Given the description of an element on the screen output the (x, y) to click on. 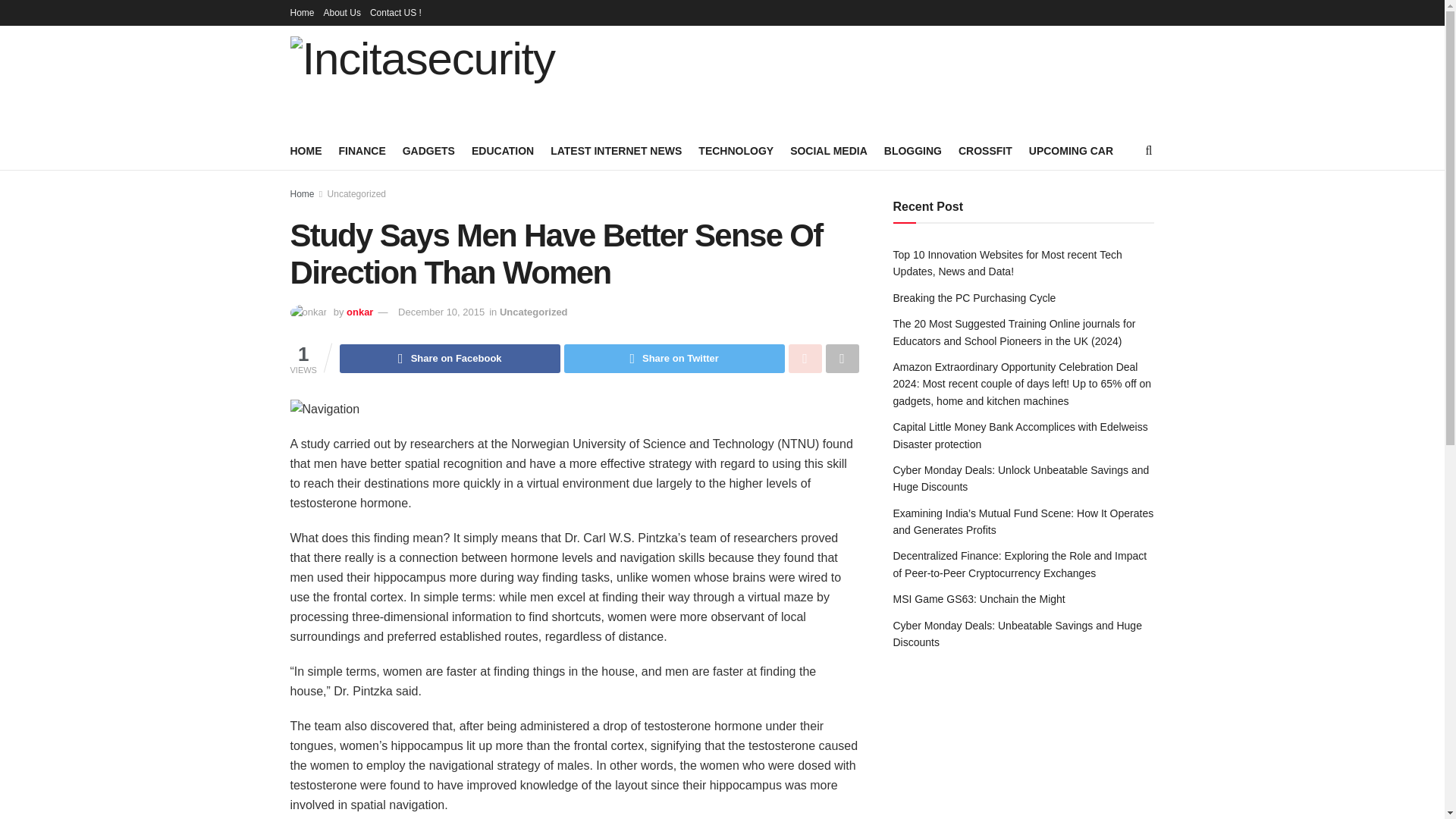
TECHNOLOGY (735, 150)
About Us (342, 12)
Share on Twitter (674, 358)
UPCOMING CAR (1071, 150)
Uncategorized (533, 311)
SOCIAL MEDIA (828, 150)
EDUCATION (502, 150)
Home (301, 12)
Contact US ! (395, 12)
December 10, 2015 (440, 311)
